Given the description of an element on the screen output the (x, y) to click on. 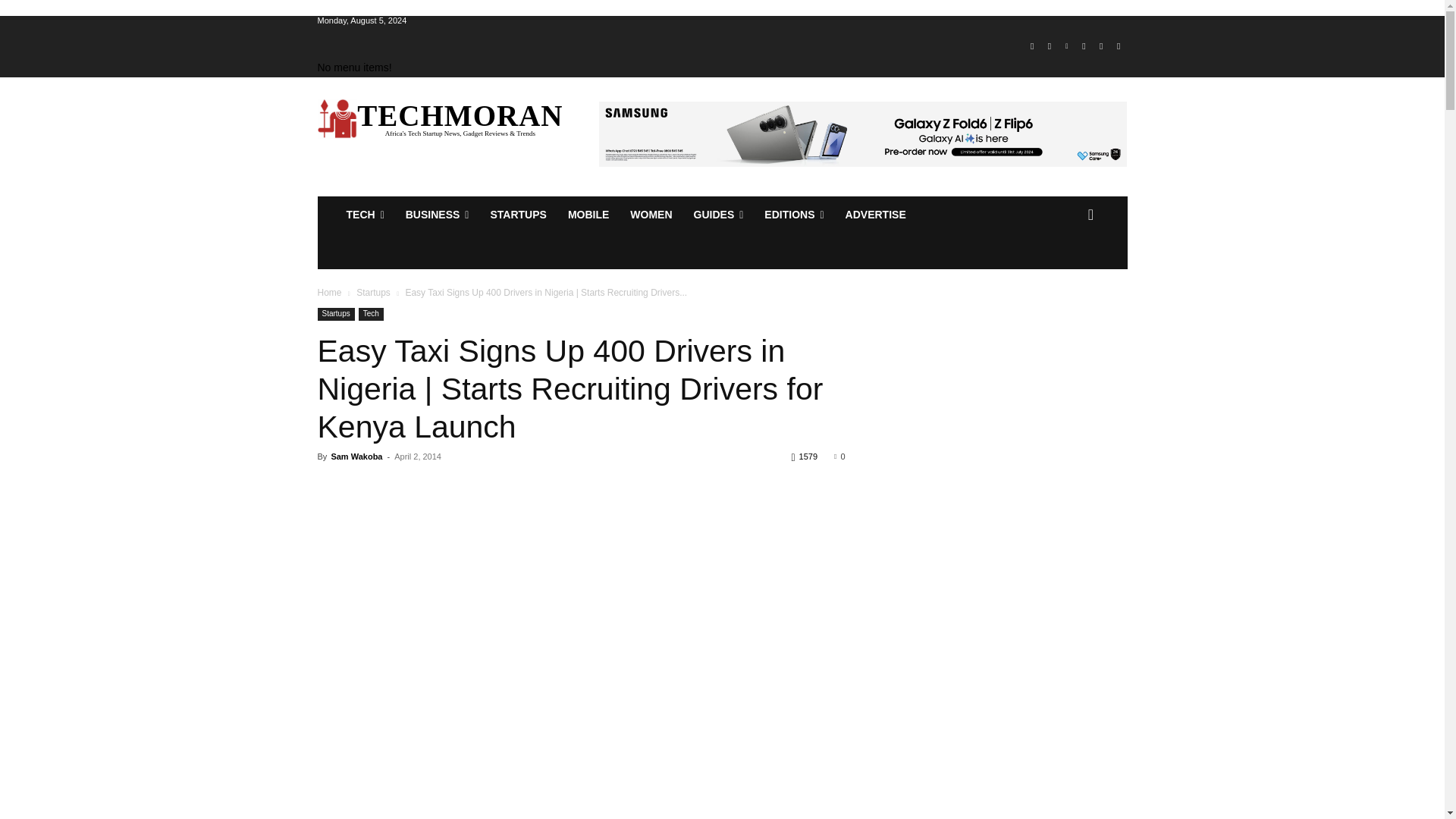
WOMEN (651, 214)
TECH (364, 214)
Mobile (588, 214)
Linkedin (1066, 46)
BUSINESS (437, 214)
MOBILE (588, 214)
GUIDES (718, 214)
View all posts in Startups (373, 292)
Youtube (1117, 46)
Instagram (1049, 46)
